Given the description of an element on the screen output the (x, y) to click on. 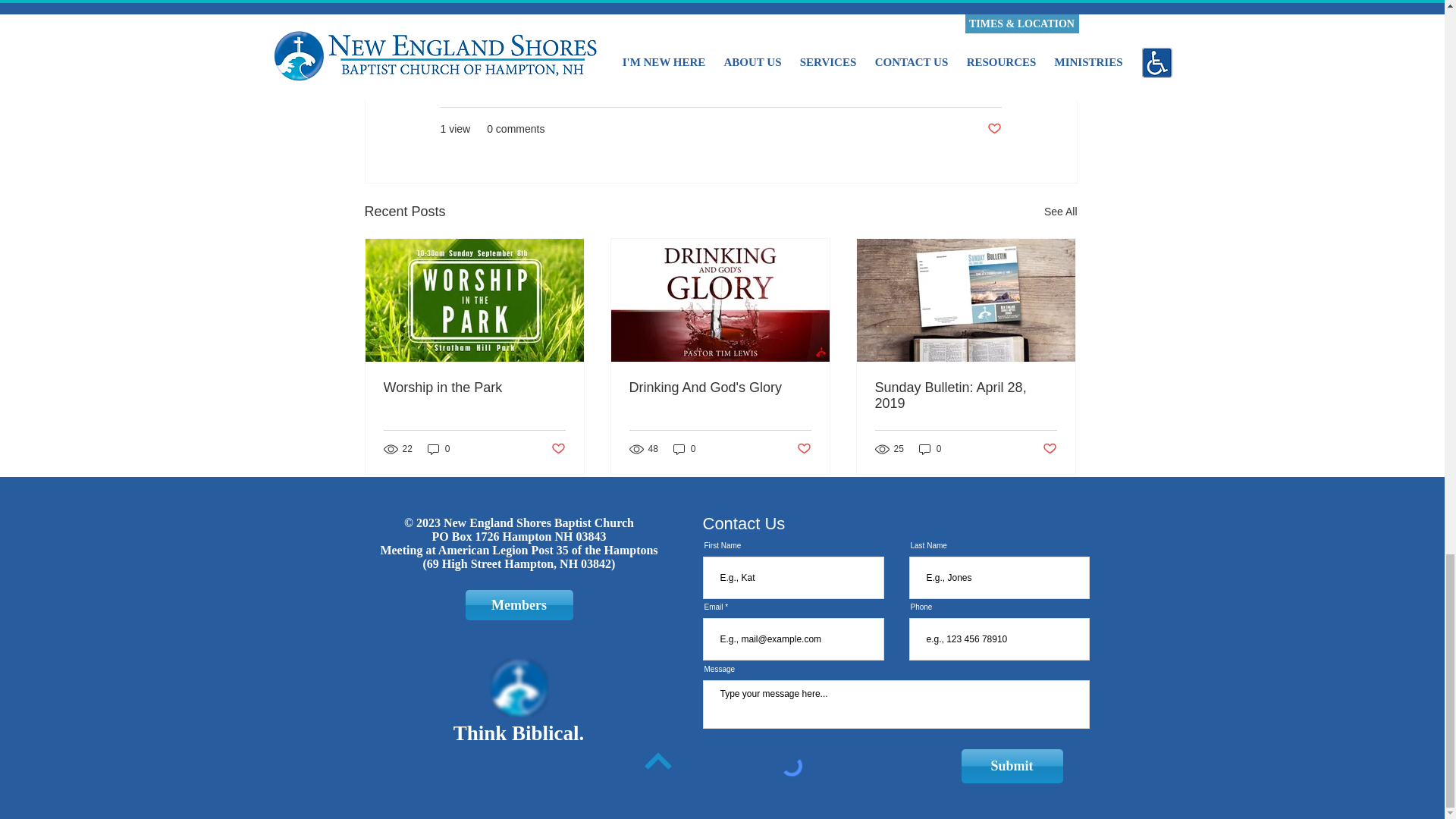
Post not marked as liked (803, 449)
0 (684, 449)
NESBC Logo Button.png (518, 687)
0 (438, 449)
Post not marked as liked (994, 129)
Worship in the Park (475, 387)
Drinking And God's Glory (719, 387)
Post not marked as liked (557, 449)
See All (1060, 211)
